Given the description of an element on the screen output the (x, y) to click on. 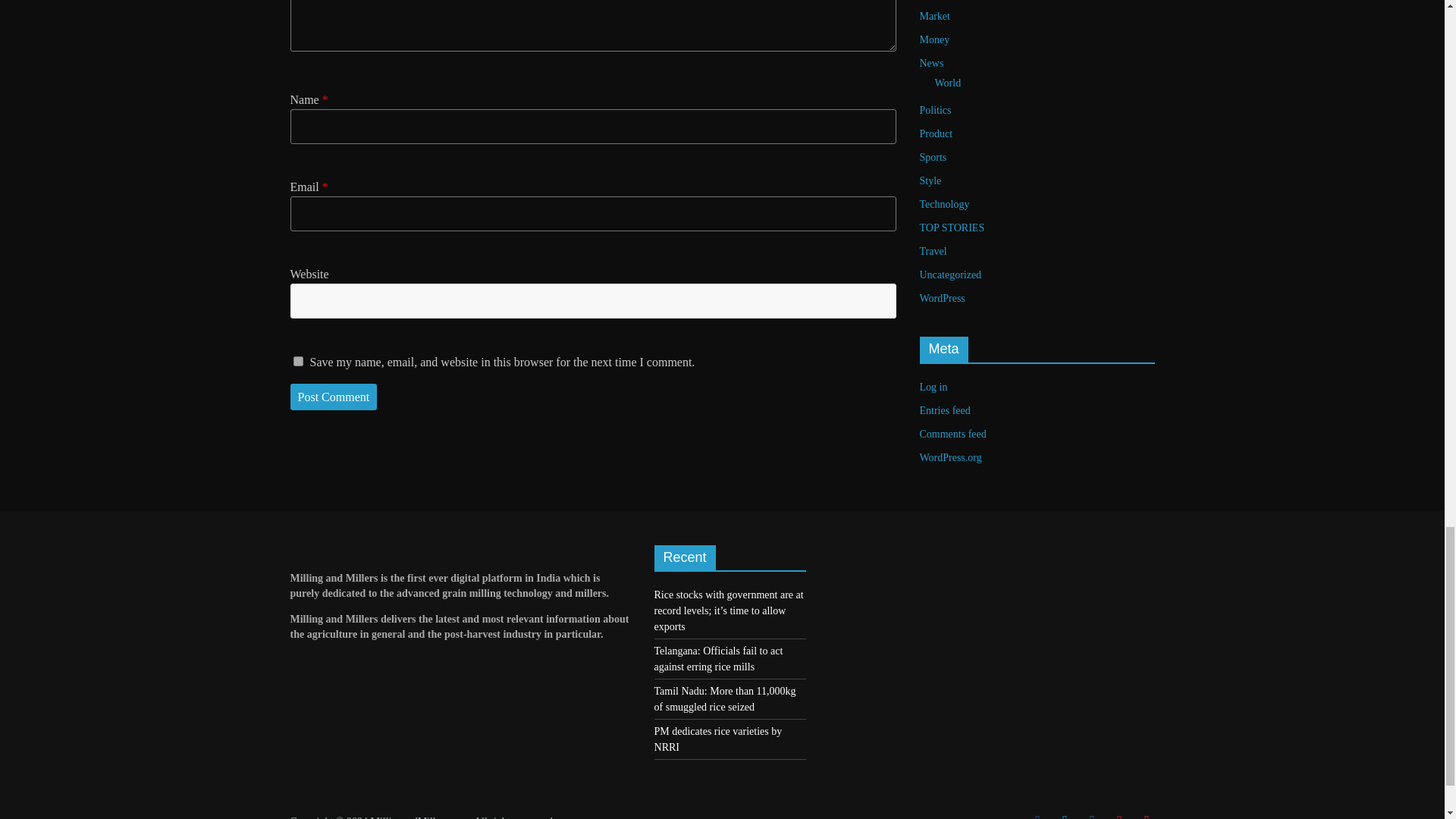
MillingandMillers.com (418, 817)
yes (297, 361)
Post Comment (333, 397)
